Given the description of an element on the screen output the (x, y) to click on. 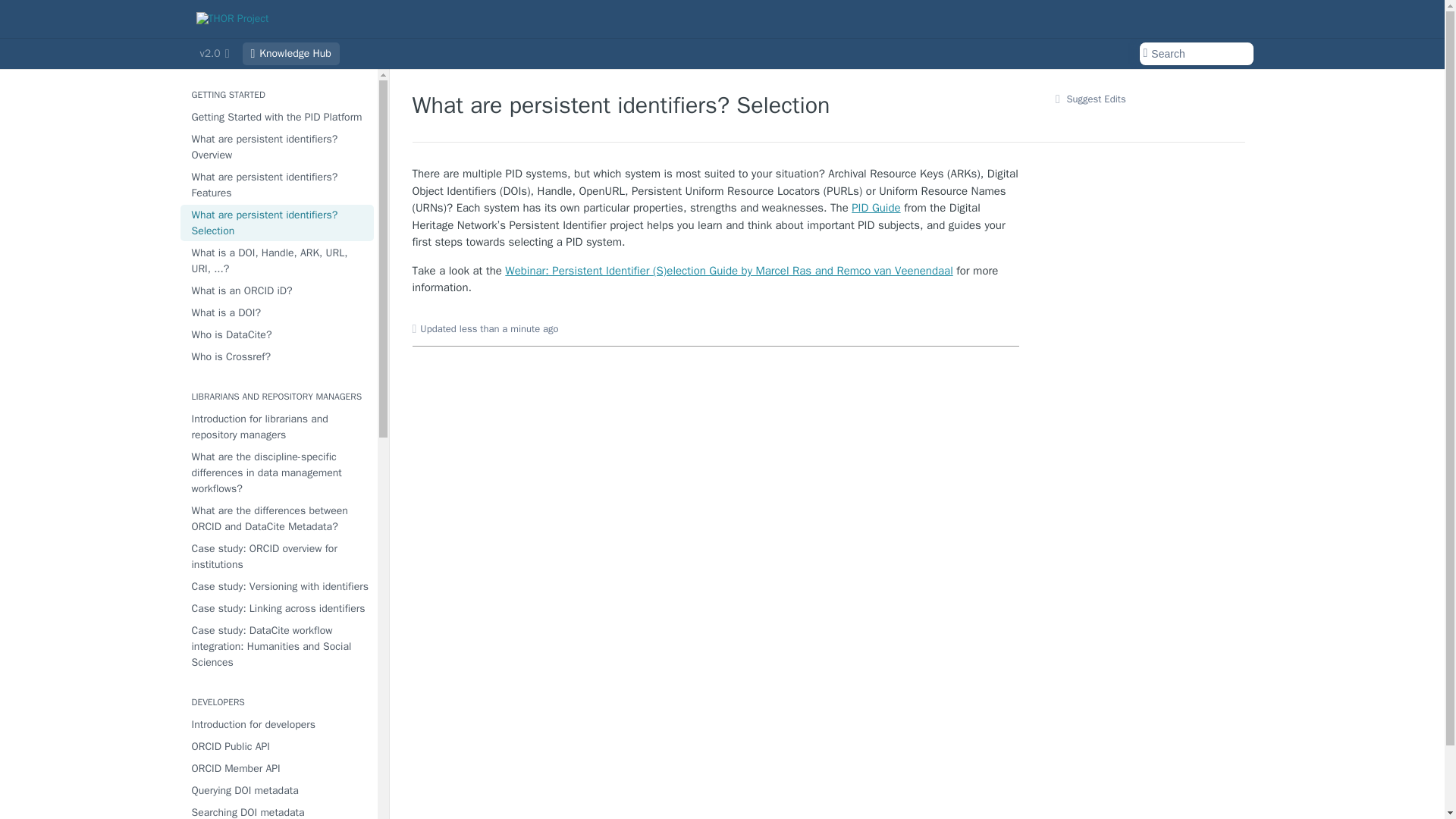
What are persistent identifiers? Features (277, 185)
Searching DOI metadata (277, 810)
Getting Started with the PID Platform (277, 117)
What is a DOI? (277, 312)
Introduction for librarians and repository managers (277, 426)
Querying DOI metadata (277, 790)
Case study: ORCID overview for institutions (277, 556)
ORCID Public API (277, 746)
v2.0 (213, 53)
What is a DOI, Handle, ARK, URL, URI, ...? (277, 260)
Knowledge Hub (291, 53)
Case study: Versioning with identifiers (277, 586)
ORCID Member API (277, 768)
